Given the description of an element on the screen output the (x, y) to click on. 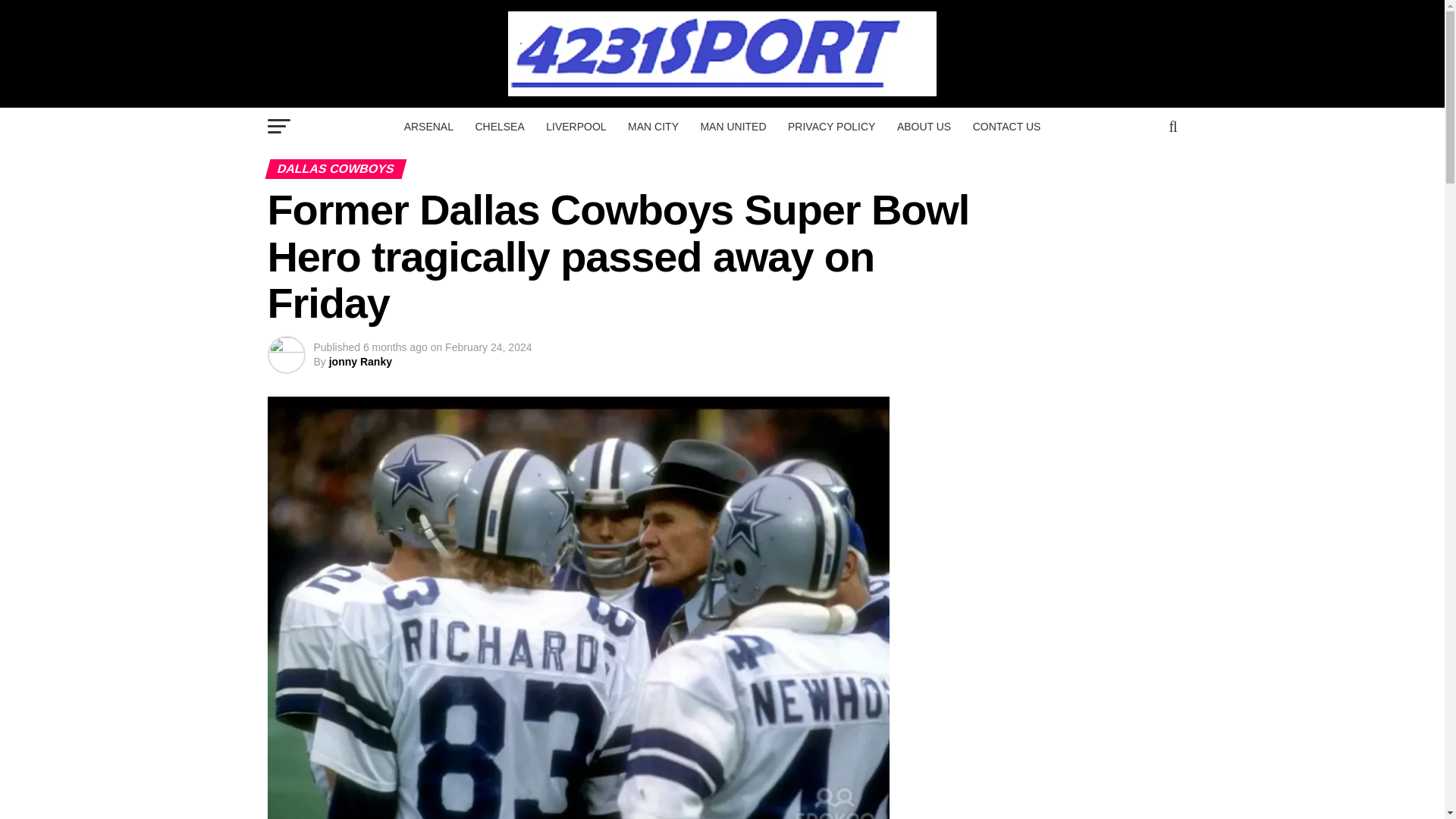
MAN CITY (652, 126)
LIVERPOOL (575, 126)
CHELSEA (498, 126)
ARSENAL (428, 126)
jonny Ranky (360, 361)
Posts by jonny Ranky (360, 361)
MAN UNITED (732, 126)
PRIVACY POLICY (830, 126)
ABOUT US (923, 126)
CONTACT US (1006, 126)
